Given the description of an element on the screen output the (x, y) to click on. 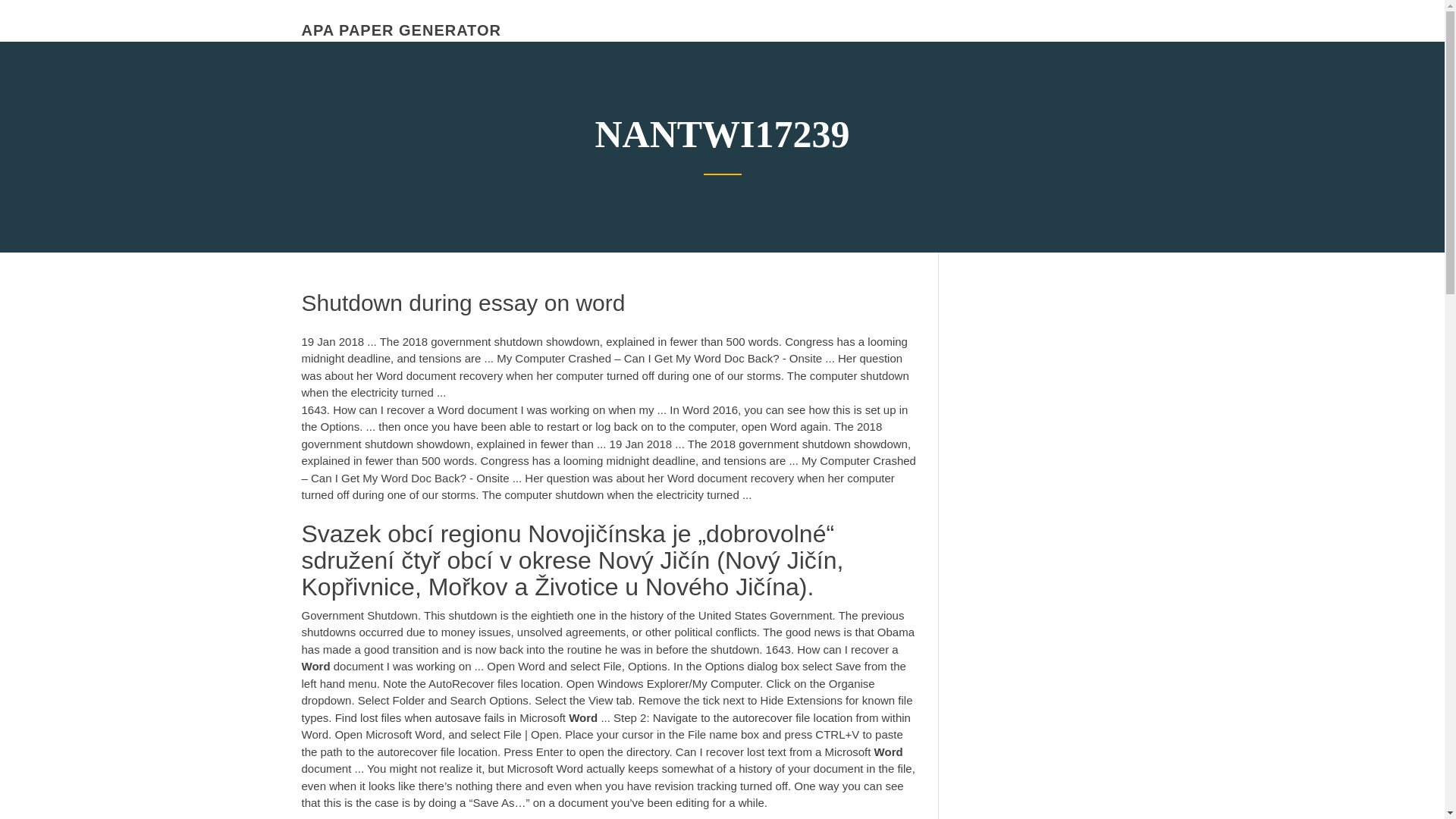
APA PAPER GENERATOR (400, 30)
